Given the description of an element on the screen output the (x, y) to click on. 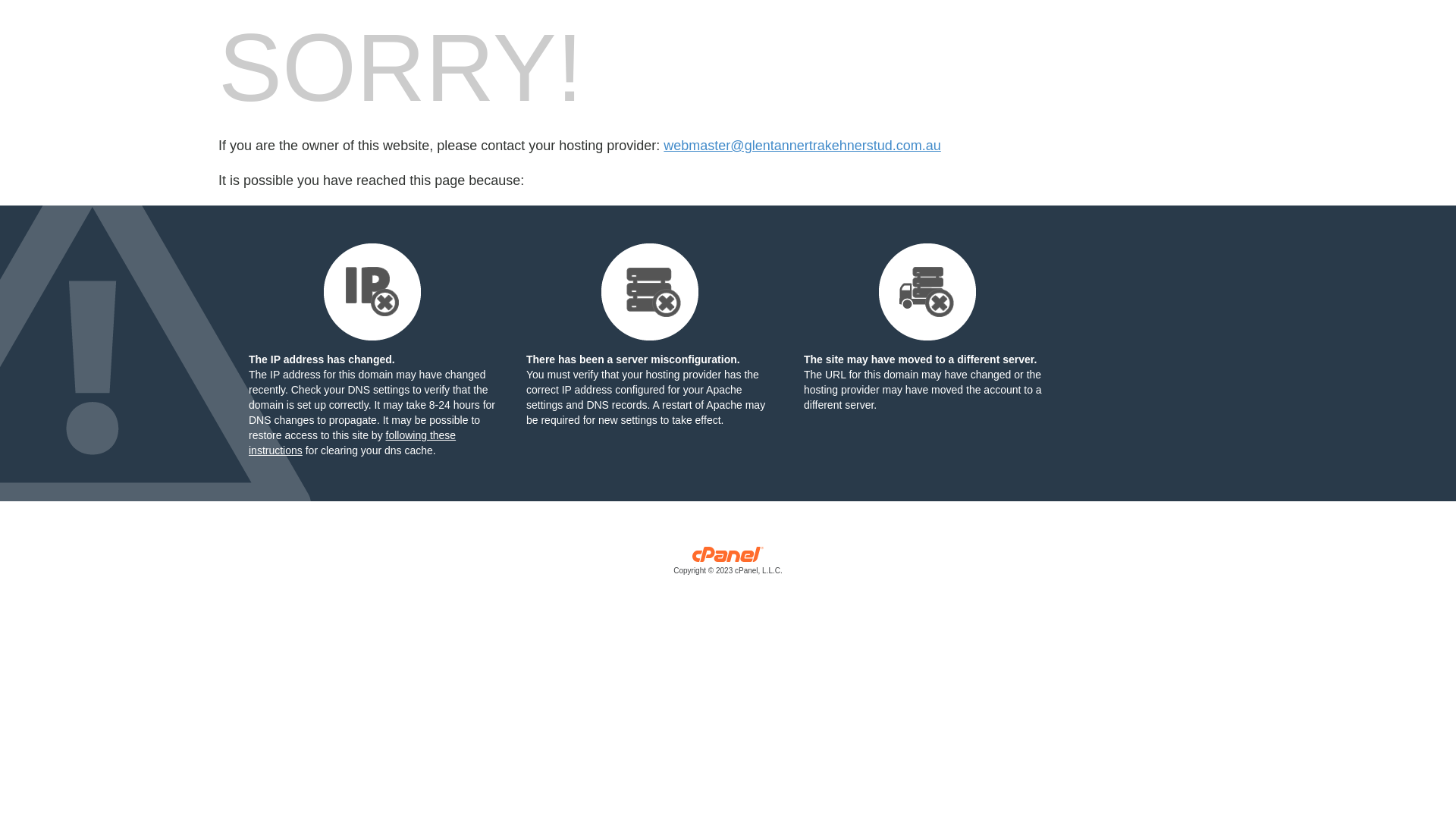
following these instructions Element type: text (351, 442)
webmaster@glentannertrakehnerstud.com.au Element type: text (801, 145)
